Given the description of an element on the screen output the (x, y) to click on. 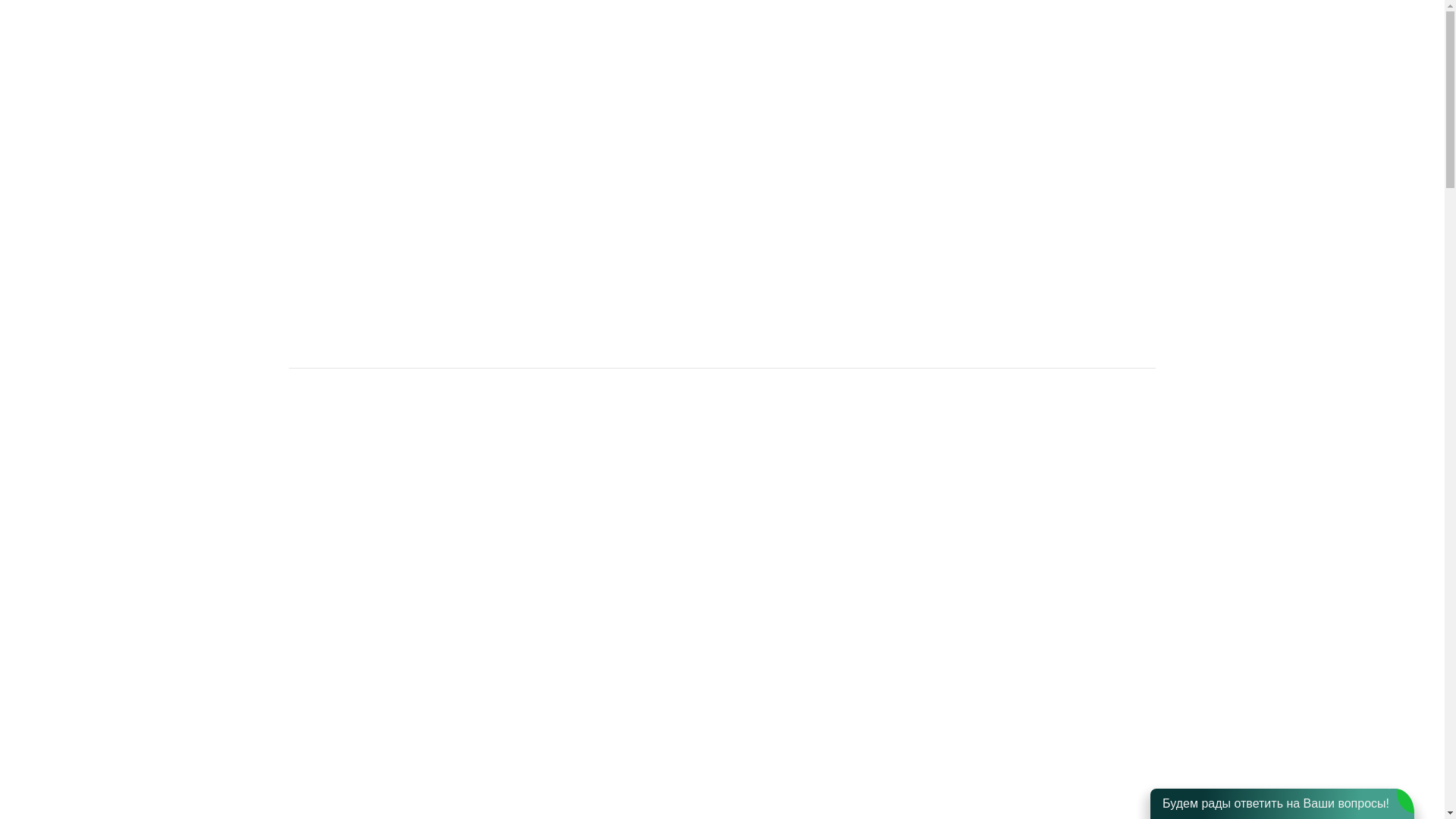
+375 (29/44) 793-93-93 Element type: text (1325, 17)
Skip to content Element type: text (1194, 21)
